Given the description of an element on the screen output the (x, y) to click on. 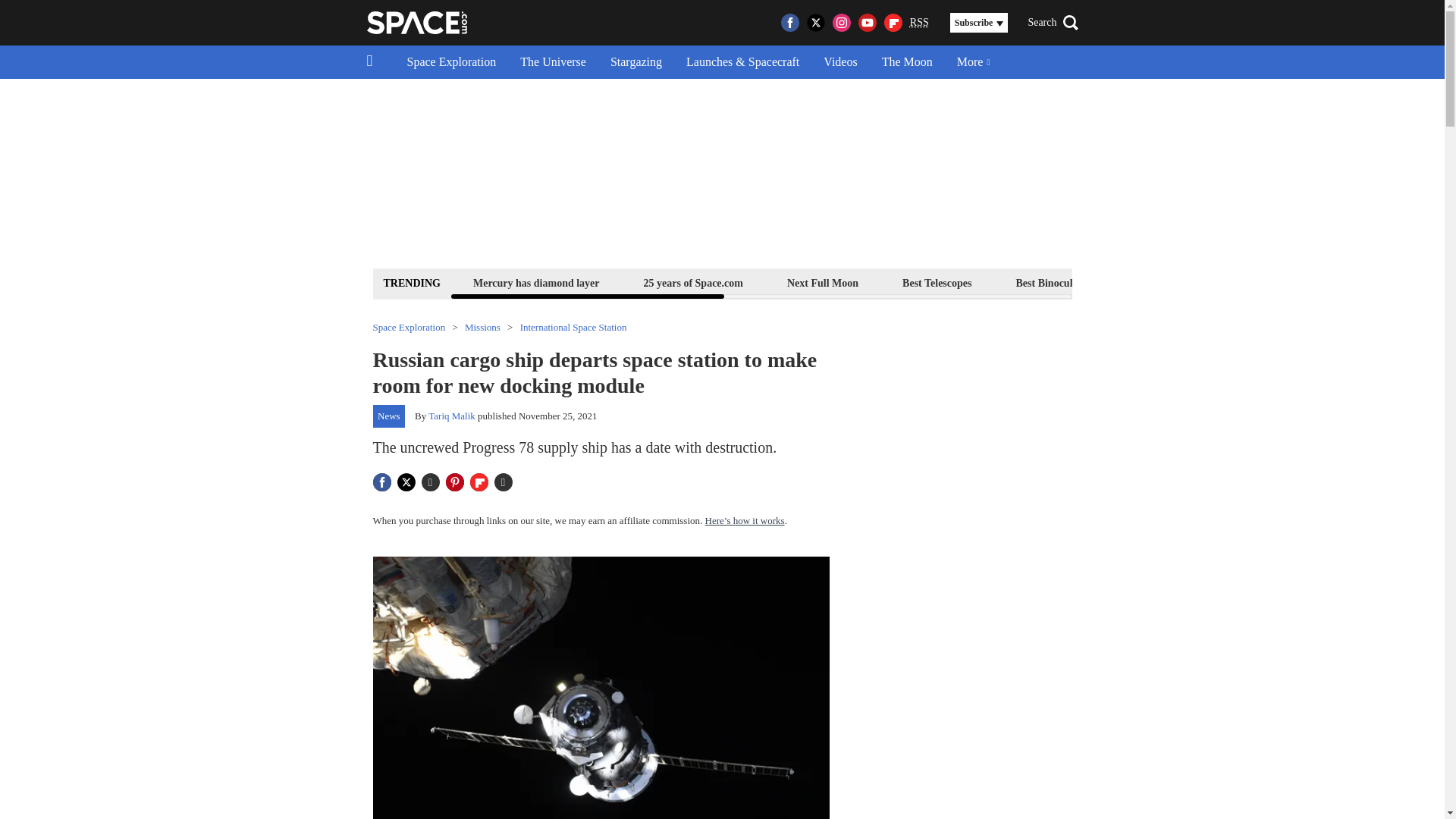
RSS (919, 22)
Best Binoculars (1051, 282)
Mercury has diamond layer (536, 282)
Stargazing (636, 61)
25 years of Space.com (693, 282)
Best Telescopes (936, 282)
The Universe (553, 61)
Next Full Moon (822, 282)
Really Simple Syndication (919, 21)
The Moon (906, 61)
Space Calendar (1301, 282)
Space Exploration (451, 61)
Best Star Projectors (1176, 282)
Videos (839, 61)
